Given the description of an element on the screen output the (x, y) to click on. 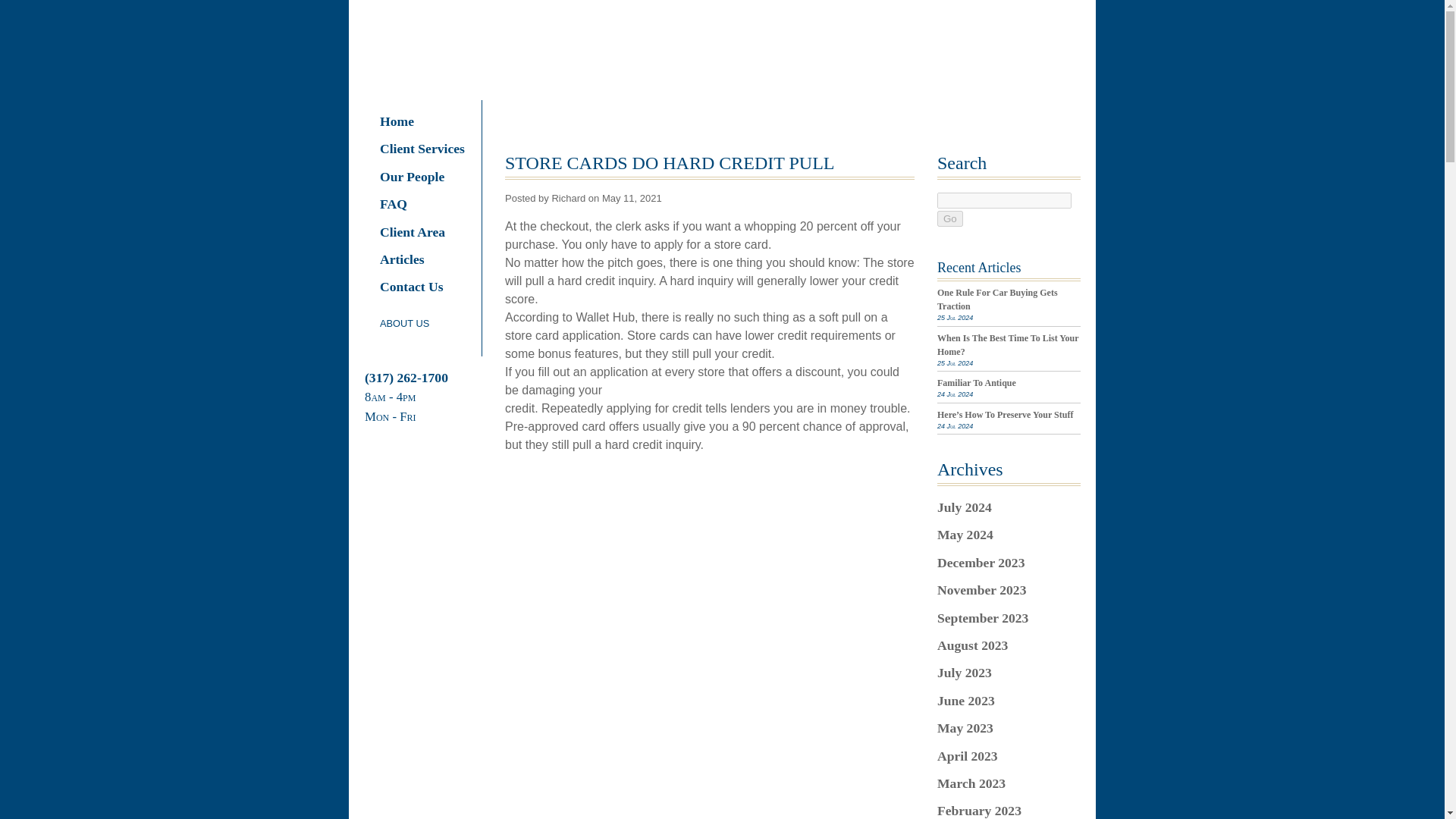
June 2023 (965, 700)
December 2023 (981, 562)
April 2023 (967, 755)
November 2023 (981, 589)
August 2023 (972, 645)
Go (949, 218)
May 2024 (964, 534)
Client Area (423, 231)
Permanent link to One Rule For Car Buying Gets Traction (997, 299)
Familiar To Antique (976, 382)
